Given the description of an element on the screen output the (x, y) to click on. 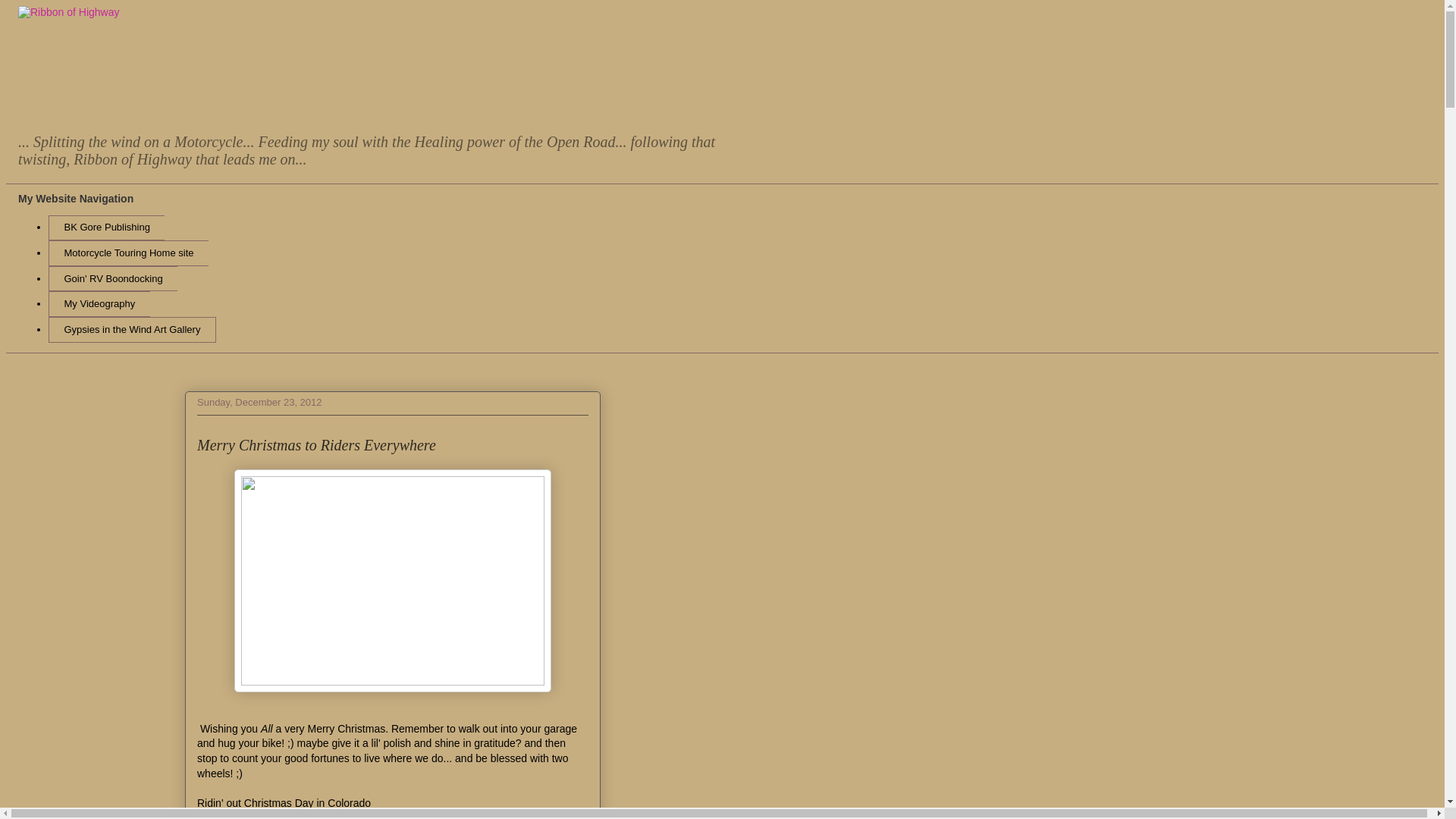
Motorcycle Touring Home site (128, 253)
Gypsies in the Wind Art Gallery (131, 329)
Goin' RV Boondocking (112, 278)
My Videography (98, 303)
BK Gore Publishing (106, 227)
